Given the description of an element on the screen output the (x, y) to click on. 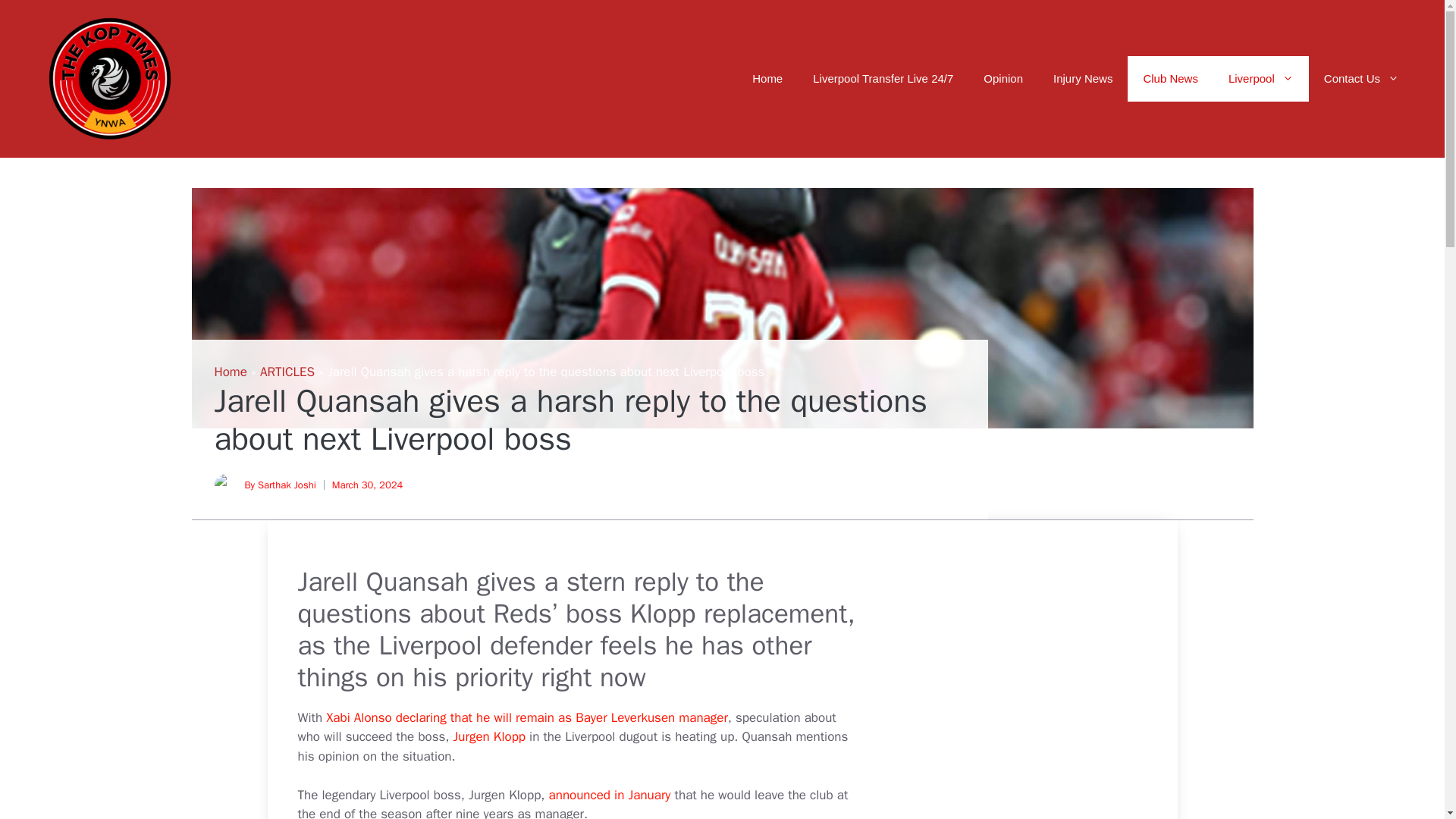
Contact Us (1360, 78)
Club News (1169, 78)
Home (766, 78)
ARTICLES (287, 371)
Xabi Alonso (358, 717)
Sarthak Joshi (286, 484)
Jurgen Klopp (488, 736)
announced in January (609, 795)
Opinion (1003, 78)
Liverpool (1260, 78)
